Given the description of an element on the screen output the (x, y) to click on. 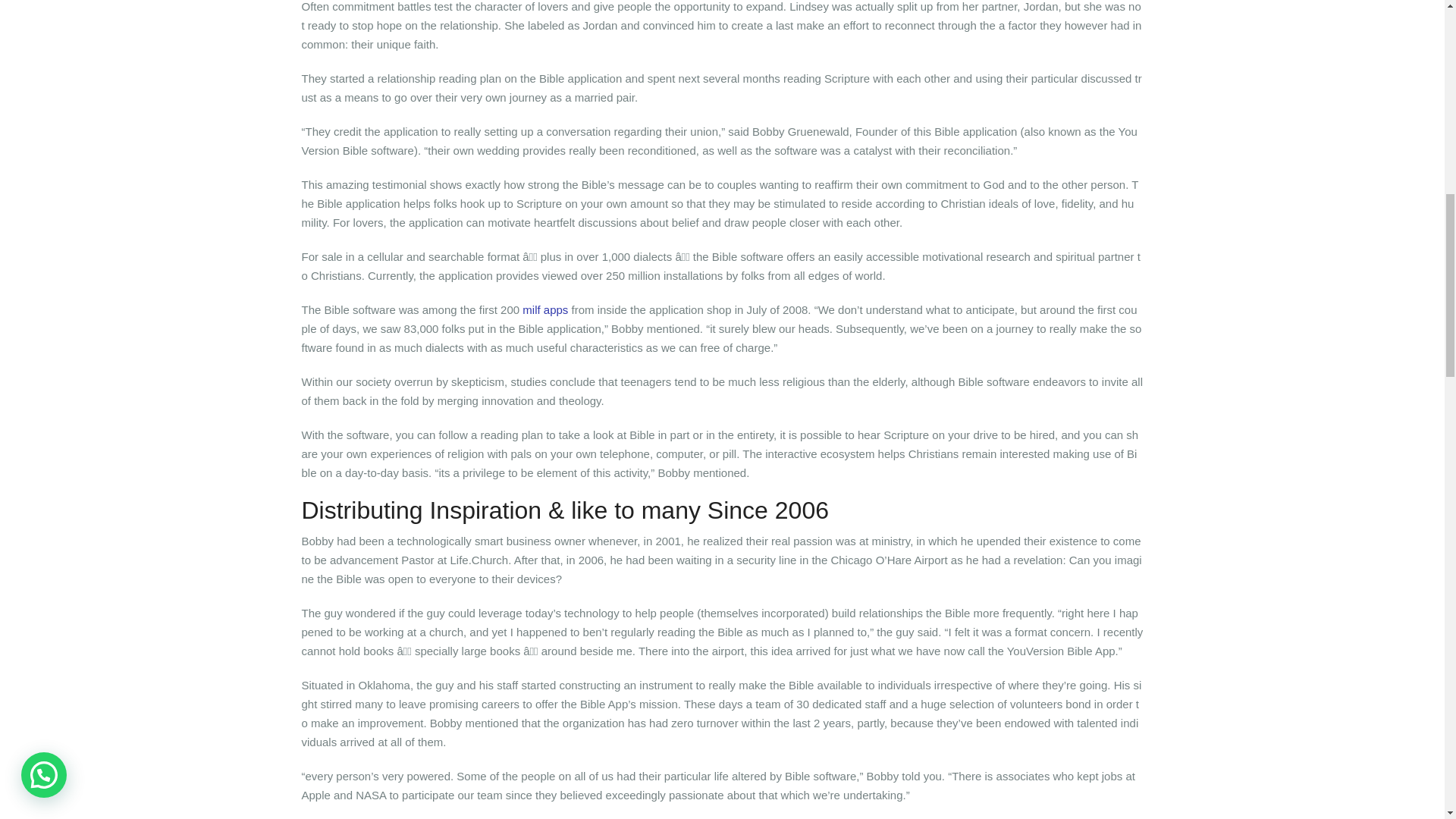
milf apps (544, 309)
